Given the description of an element on the screen output the (x, y) to click on. 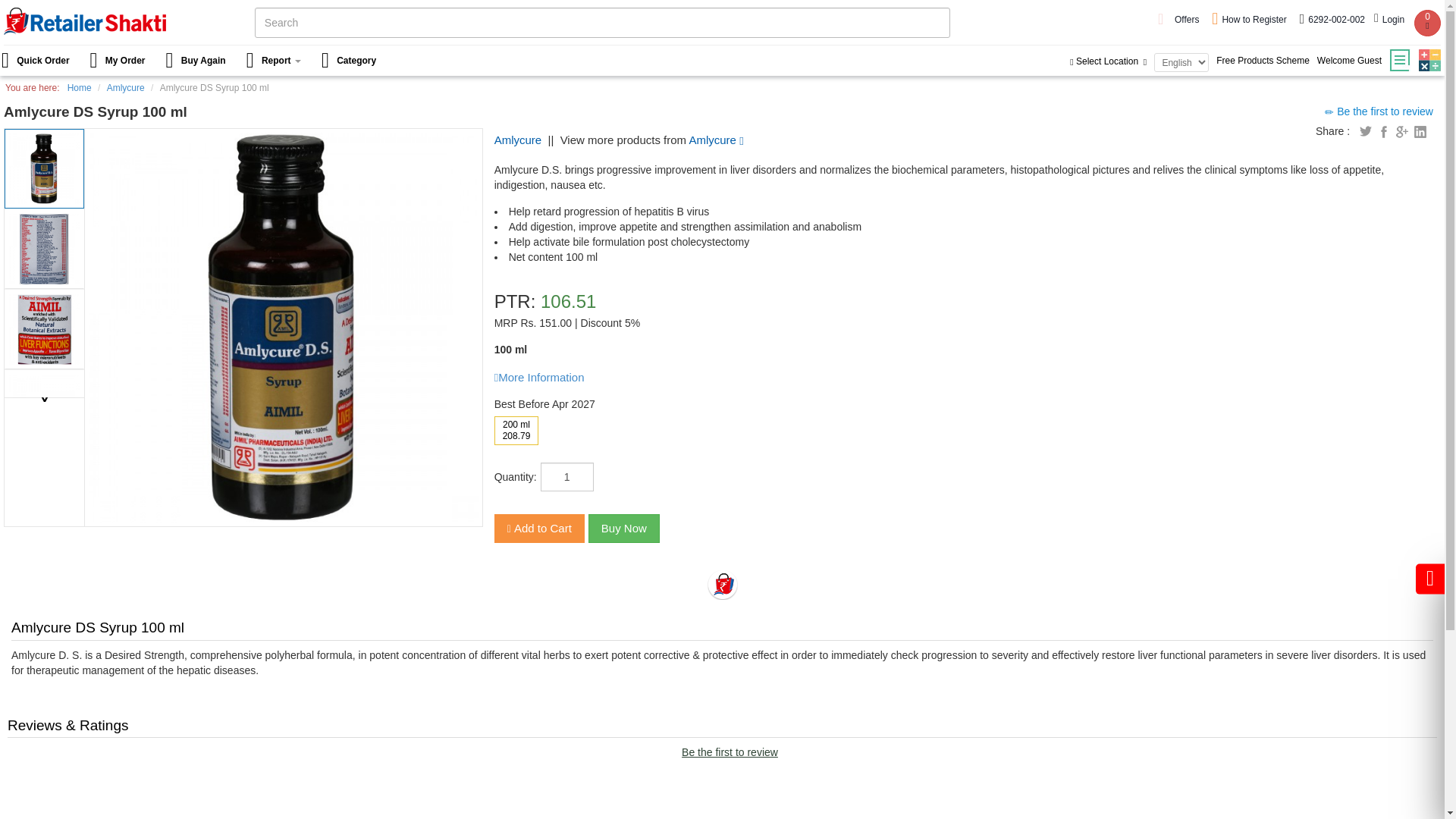
1 (567, 476)
 Select Location   (1109, 60)
Buy Again (197, 60)
0 (1427, 22)
6292-002-002 (1332, 19)
How to Register (1250, 19)
Amlycure  (715, 139)
My Order (119, 60)
Login (1390, 19)
Amlycure (125, 87)
